Given the description of an element on the screen output the (x, y) to click on. 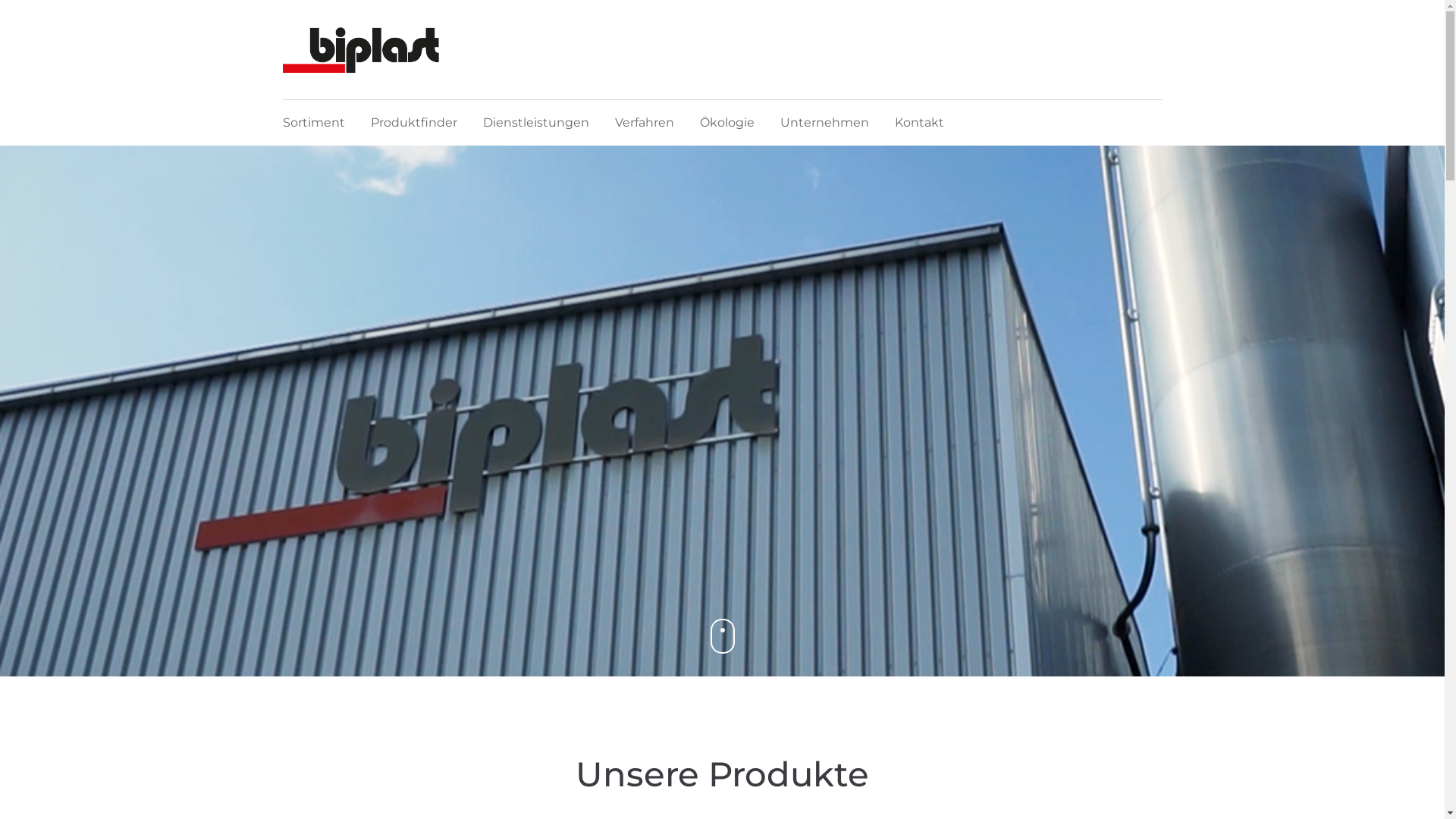
Unternehmen Element type: text (823, 122)
Verfahren Element type: text (643, 122)
Kontakt Element type: text (919, 122)
Dienstleistungen Element type: text (535, 122)
Produktfinder Element type: text (413, 122)
Sortiment Element type: text (313, 122)
